Given the description of an element on the screen output the (x, y) to click on. 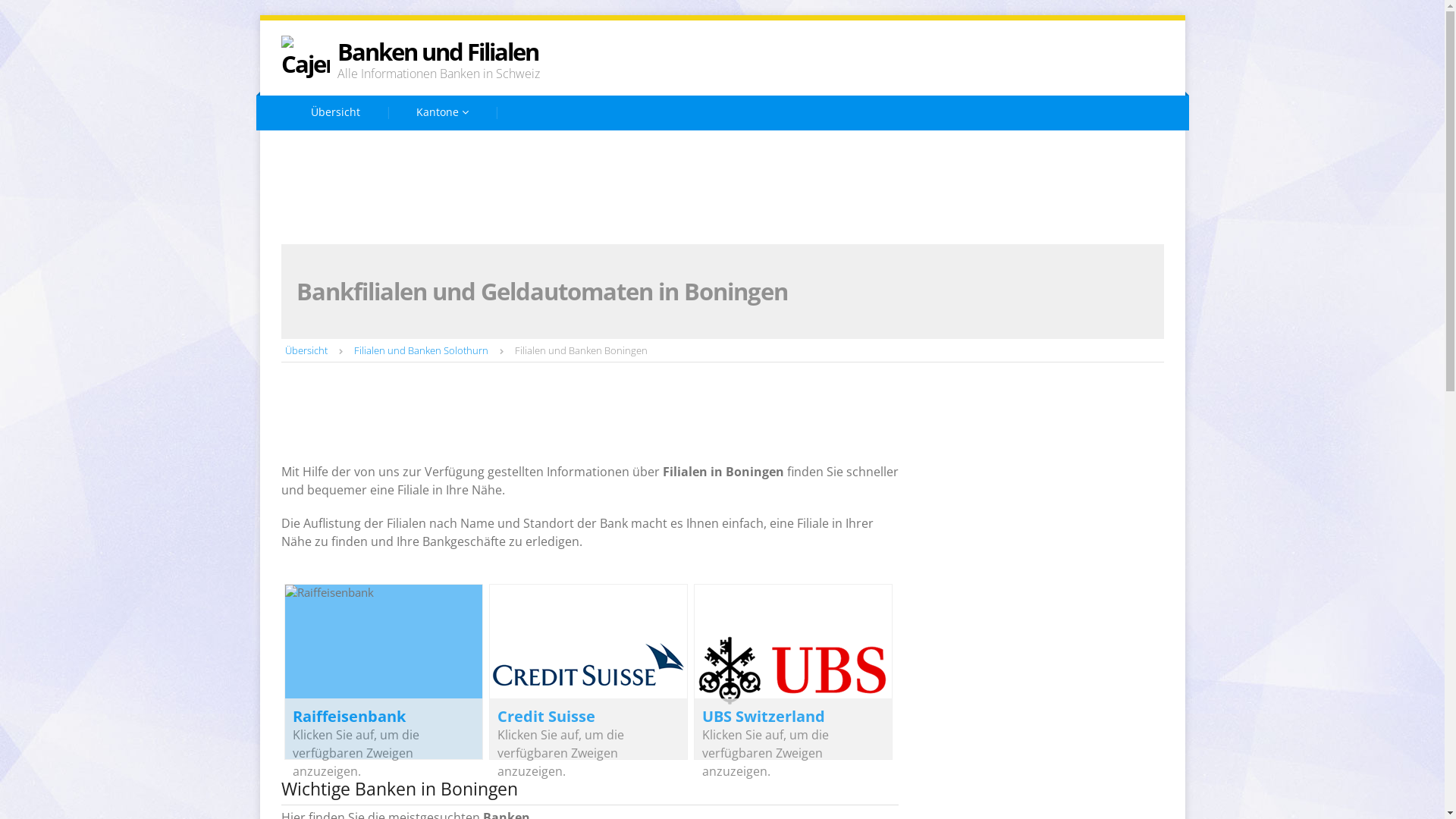
Alle Banken Element type: text (655, 224)
UBS Switzerland Element type: text (993, 187)
Banque Cantonale Element type: text (721, 149)
Banque Raiffeisen Element type: text (870, 149)
Neue Aargauer Bank Element type: text (711, 187)
Credit Suisse Element type: text (546, 716)
Valiant Bank Element type: text (368, 224)
Credit Suisse Element type: text (370, 187)
Filialen und Banken Solothurn Element type: text (420, 350)
Banca Raiffeisen Element type: text (576, 149)
Raiffeisenbank Element type: text (348, 716)
Berner Kantonalbank Element type: text (1026, 149)
UBS Switzerland Element type: text (763, 716)
Filialen und Banken in Schweiz Element type: text (393, 149)
Raiffeisenbank Element type: text (858, 187)
Kantone Element type: text (442, 112)
Banken und Filialen Element type: text (436, 51)
